Given the description of an element on the screen output the (x, y) to click on. 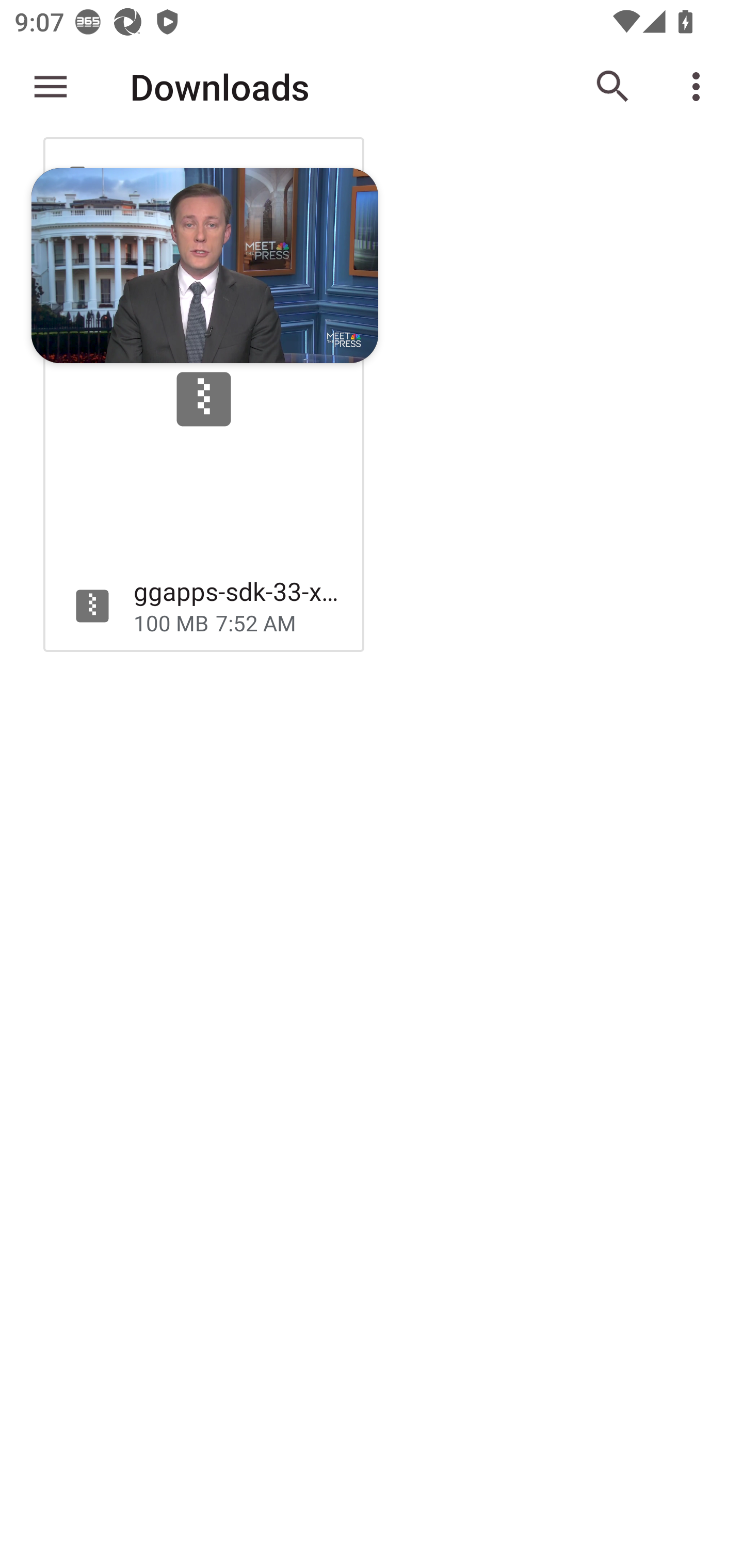
Show roots (50, 86)
Search (612, 86)
More options (699, 86)
